Given the description of an element on the screen output the (x, y) to click on. 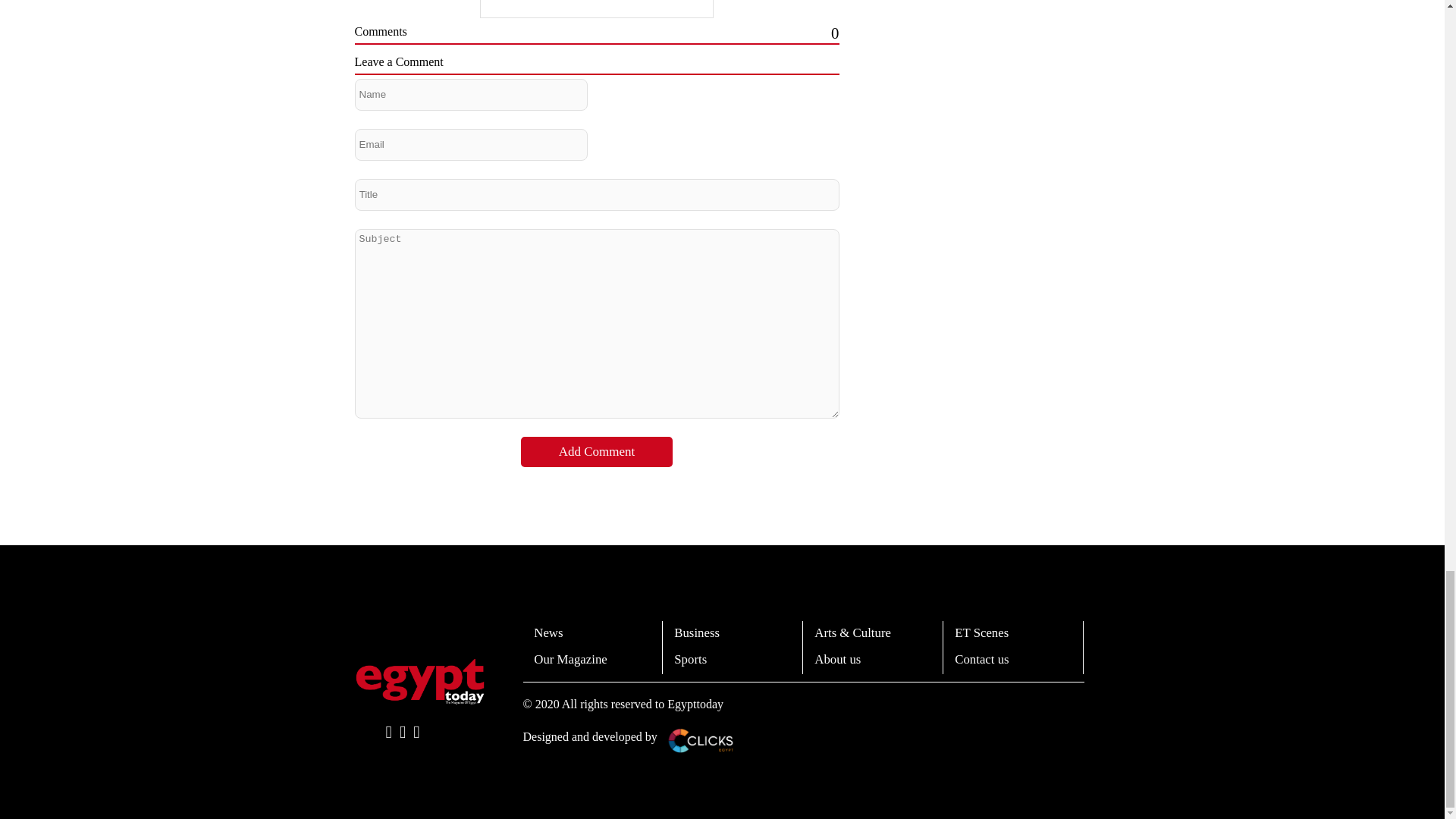
Add Comment (596, 451)
EgyptToday (419, 681)
